Given the description of an element on the screen output the (x, y) to click on. 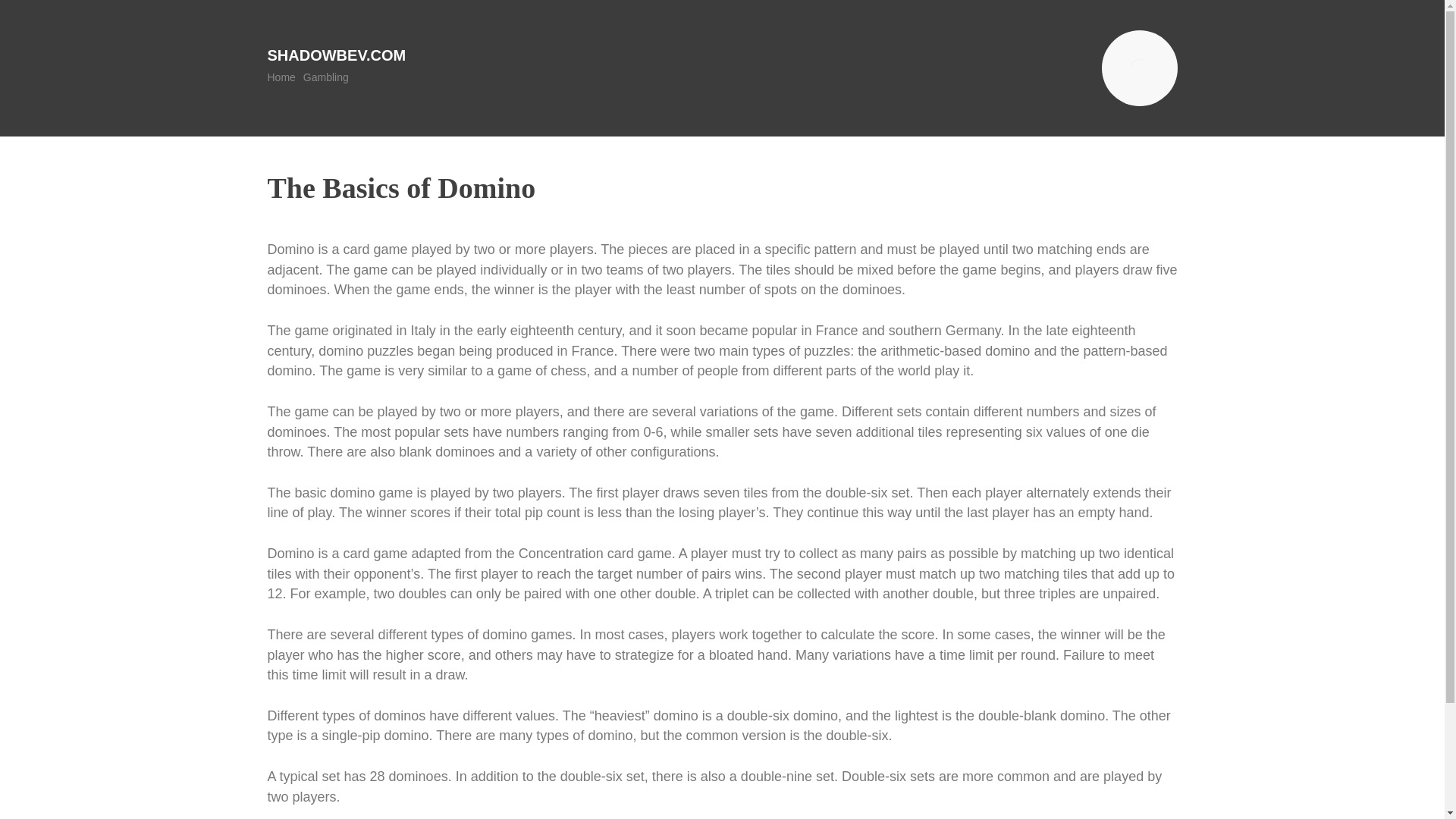
Shadowbev.com (336, 54)
Gambling (325, 77)
Home (280, 77)
SHADOWBEV.COM (336, 54)
